Given the description of an element on the screen output the (x, y) to click on. 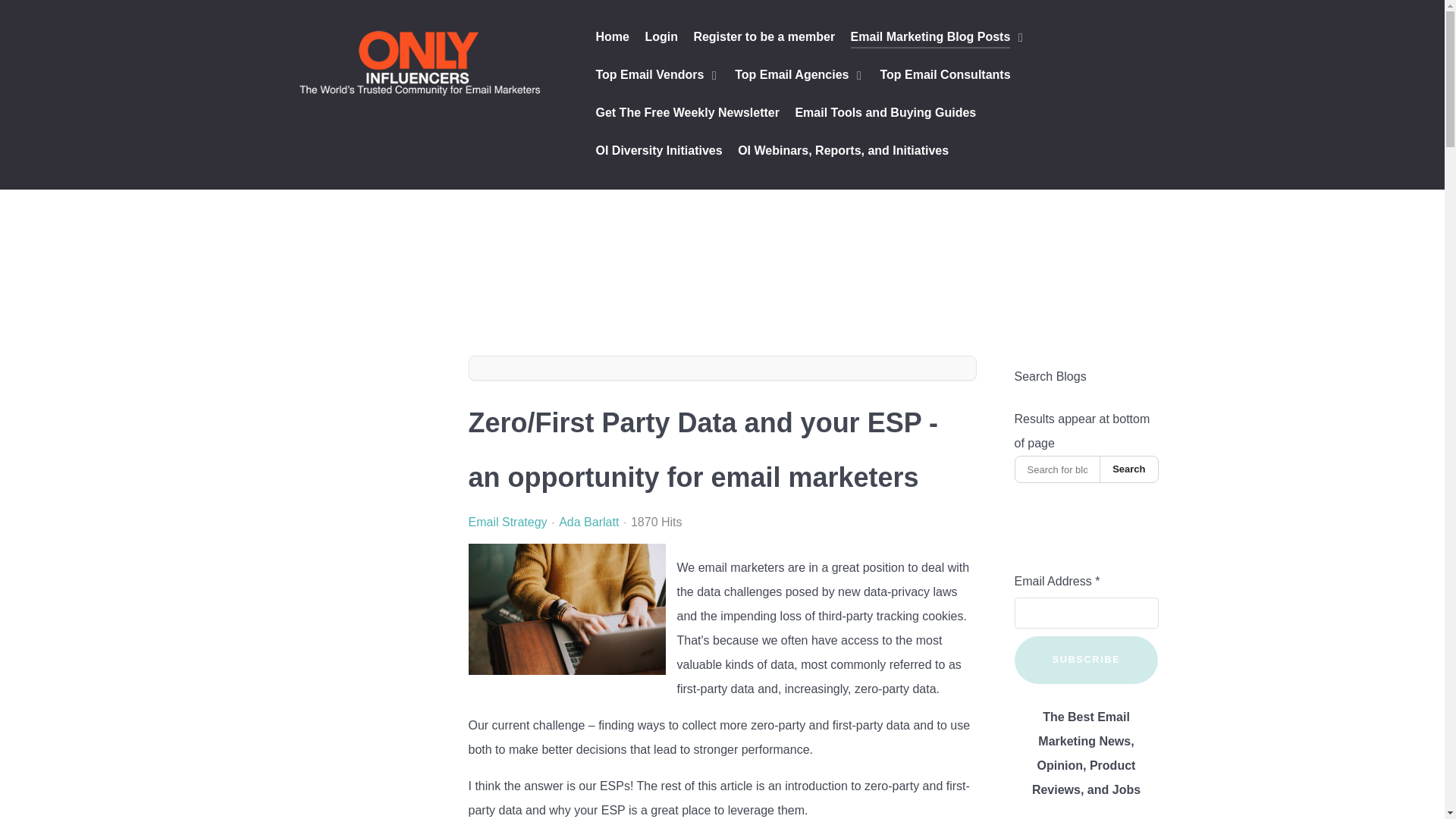
christin-hume-Hcfwew744z4-unsplash-600 (566, 608)
OI Webinars, Reports, and Initiatives (843, 151)
Top Email Consultants (944, 75)
Register to be a member (763, 38)
Email Marketing Blog Posts (938, 38)
Top Email Vendors (657, 75)
Email Strategy (507, 522)
Get The Free Weekly Newsletter (686, 114)
Login (661, 38)
Ada Barlatt (588, 521)
Top Email Agencies (799, 75)
Home (611, 38)
Email Tools and Buying Guides (884, 114)
OI Diversity Initiatives (658, 151)
Subscribe (1086, 659)
